Given the description of an element on the screen output the (x, y) to click on. 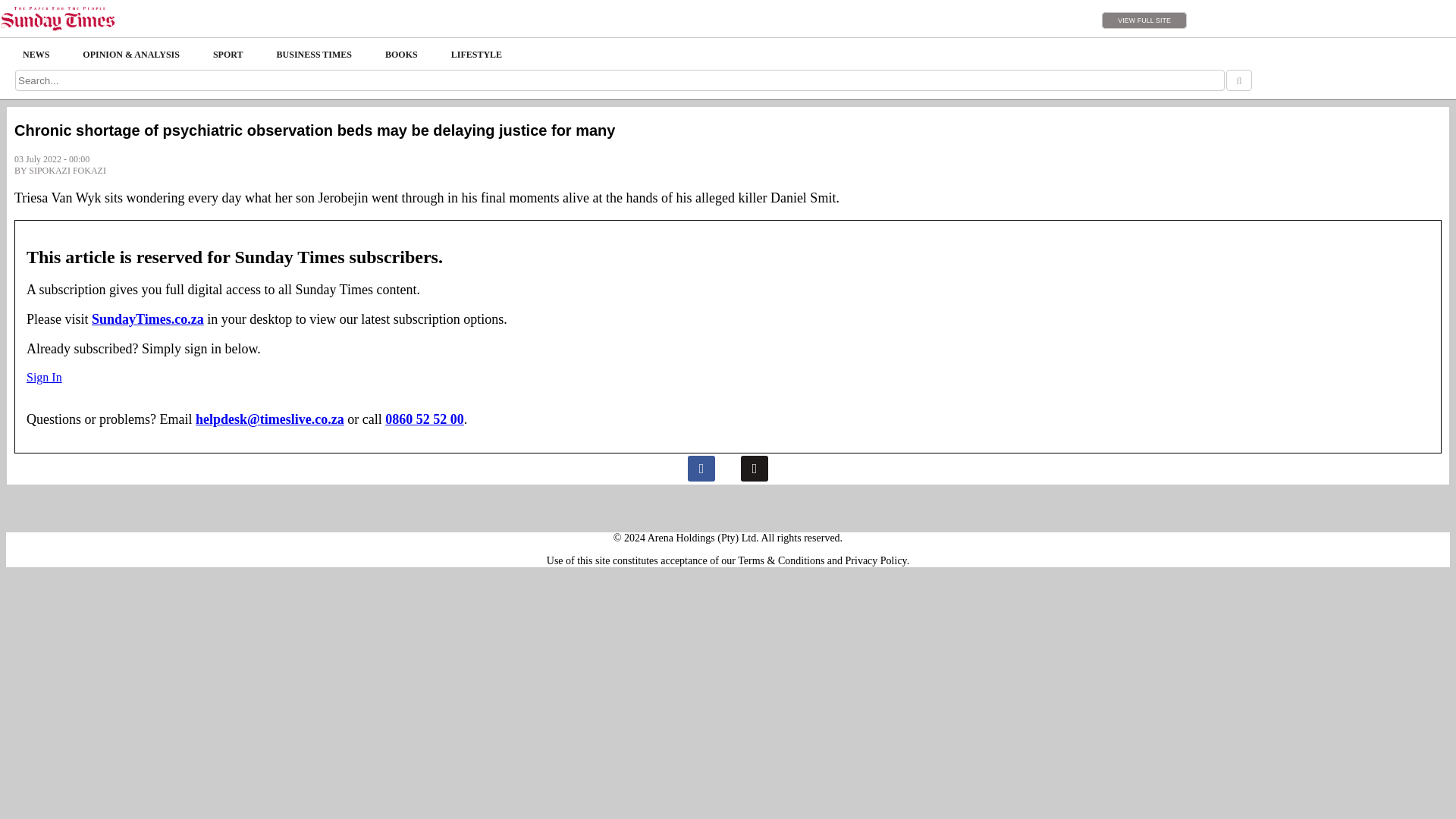
search (1237, 79)
BUSINESS TIMES (315, 54)
SPORT (228, 54)
BOOKS (400, 54)
VIEW FULL SITE (1144, 20)
LIFESTYLE (475, 54)
0860 52 52 00 (424, 418)
SundayTimes.co.za (147, 319)
Sign In (44, 377)
NEWS (35, 54)
